Given the description of an element on the screen output the (x, y) to click on. 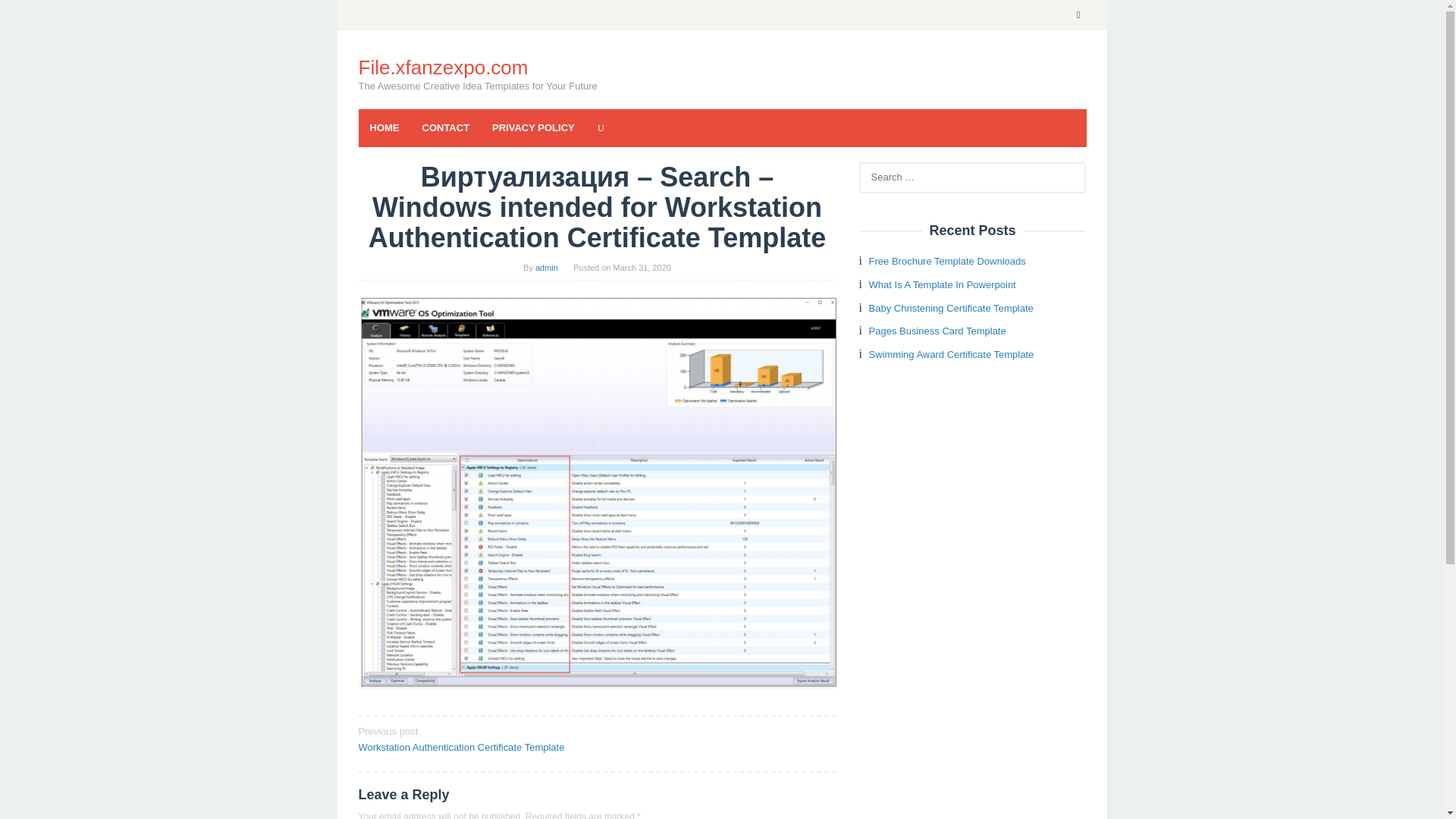
CONTACT (445, 127)
Pages Business Card Template (937, 330)
admin (546, 266)
Free Brochure Template Downloads (947, 260)
What Is A Template In Powerpoint (942, 284)
Search (27, 15)
File.xfanzexpo.com (442, 67)
Baby Christening Certificate Template (951, 307)
Swimming Award Certificate Template (951, 354)
PRIVACY POLICY (533, 127)
HOME (384, 127)
Permalink to: admin (546, 266)
File.xfanzexpo.com (442, 67)
